Given the description of an element on the screen output the (x, y) to click on. 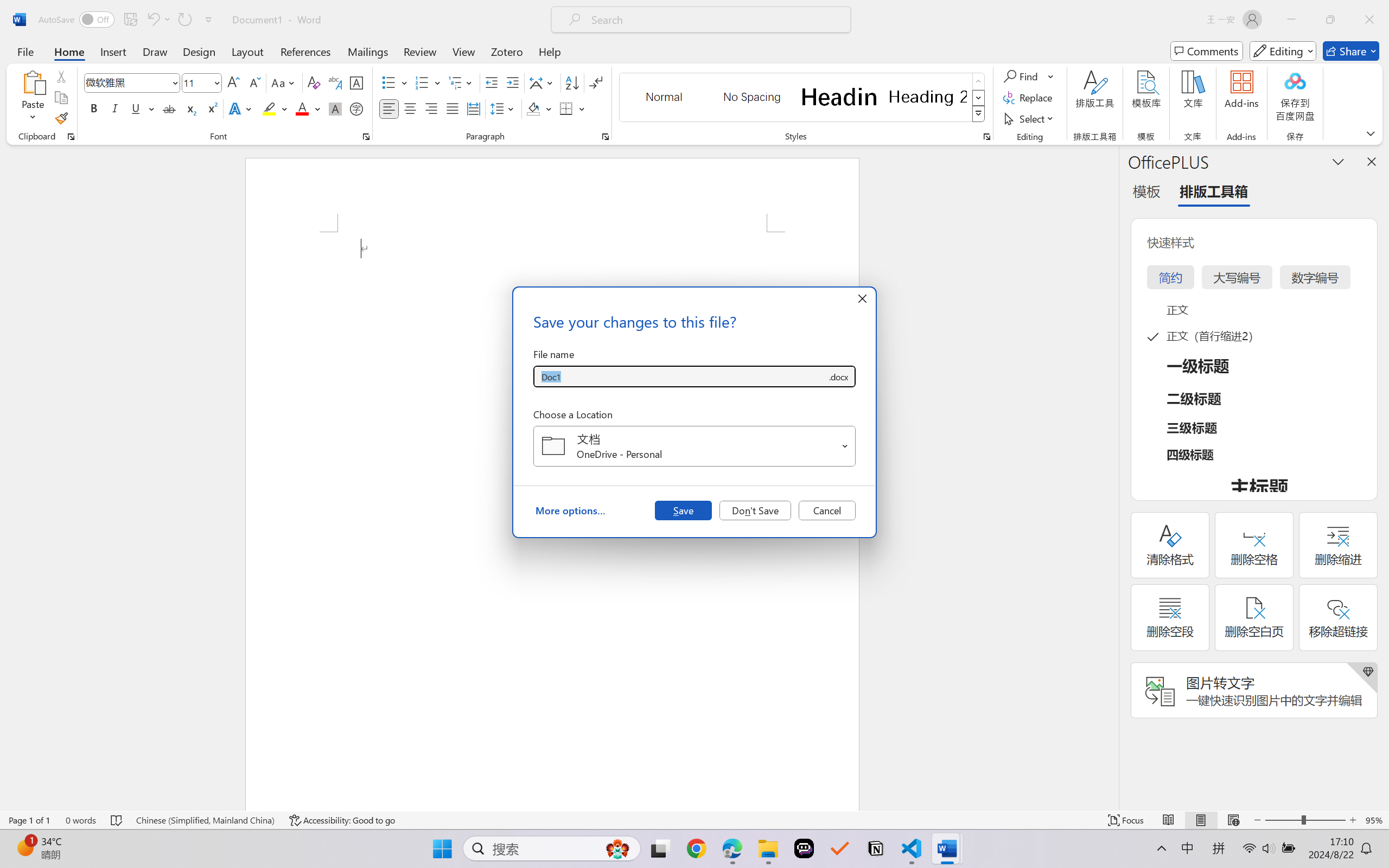
Class: NetUIScrollBar (1111, 477)
